Given the description of an element on the screen output the (x, y) to click on. 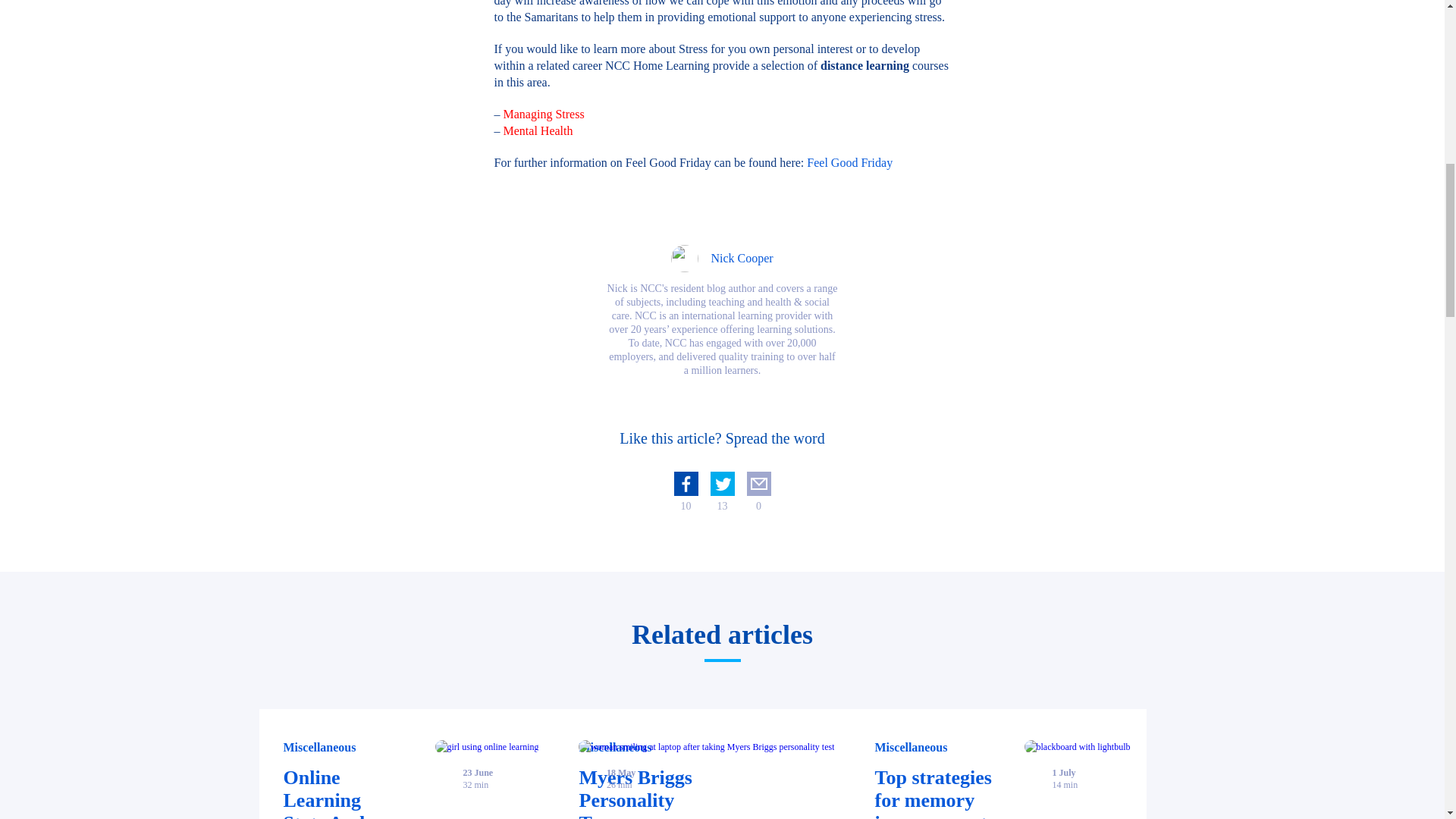
Nick Cooper (722, 257)
blackboard with lightbulb (1078, 746)
Feel Good Friday (849, 162)
girl using online learning (701, 764)
